Given the description of an element on the screen output the (x, y) to click on. 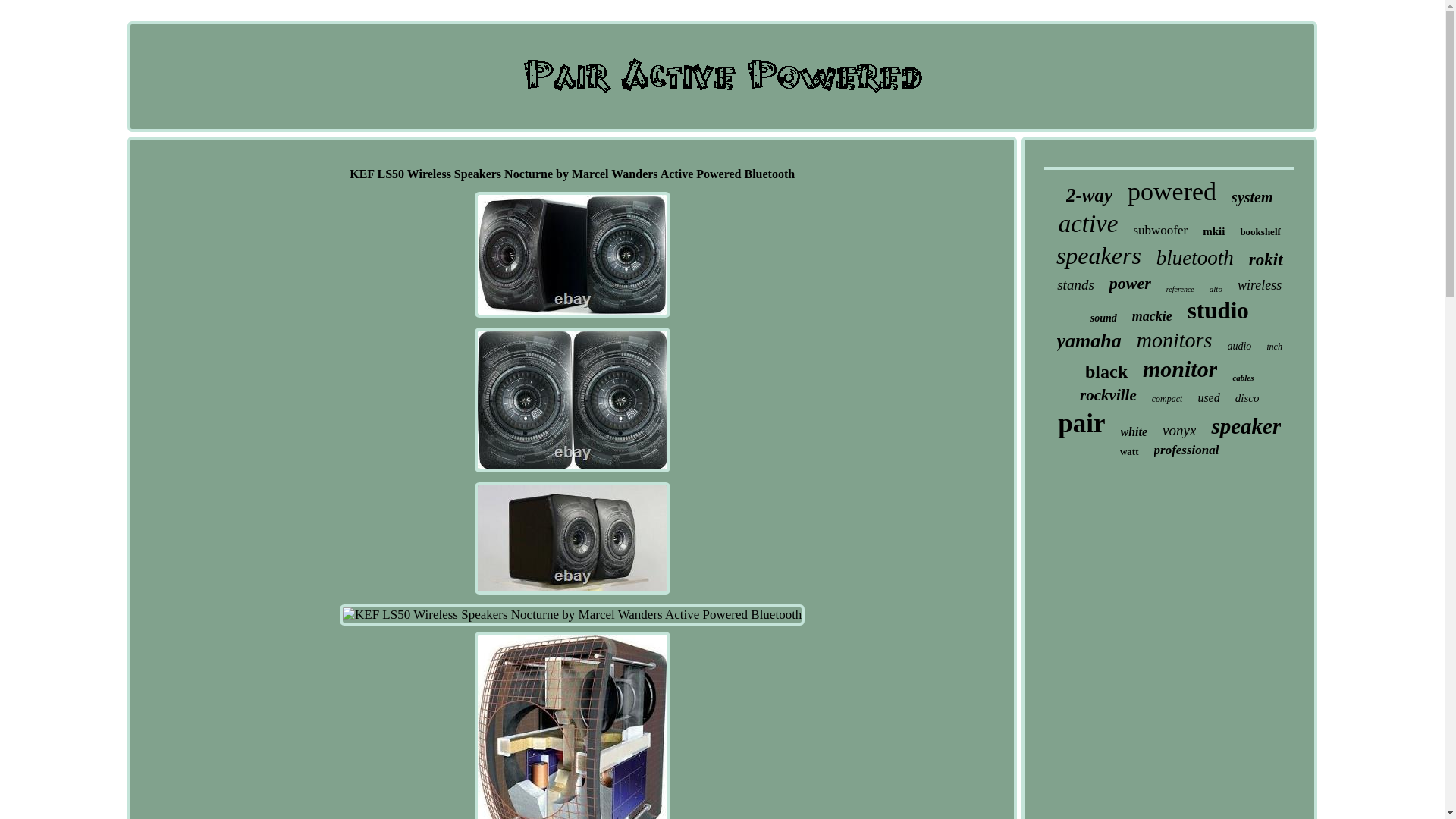
audio (1238, 346)
bluetooth (1194, 258)
subwoofer (1160, 230)
mackie (1152, 316)
system (1251, 197)
powered (1170, 191)
rockville (1108, 394)
cables (1242, 377)
rokit (1265, 260)
monitor (1179, 369)
studio (1218, 310)
alto (1216, 288)
sound (1103, 318)
